Given the description of an element on the screen output the (x, y) to click on. 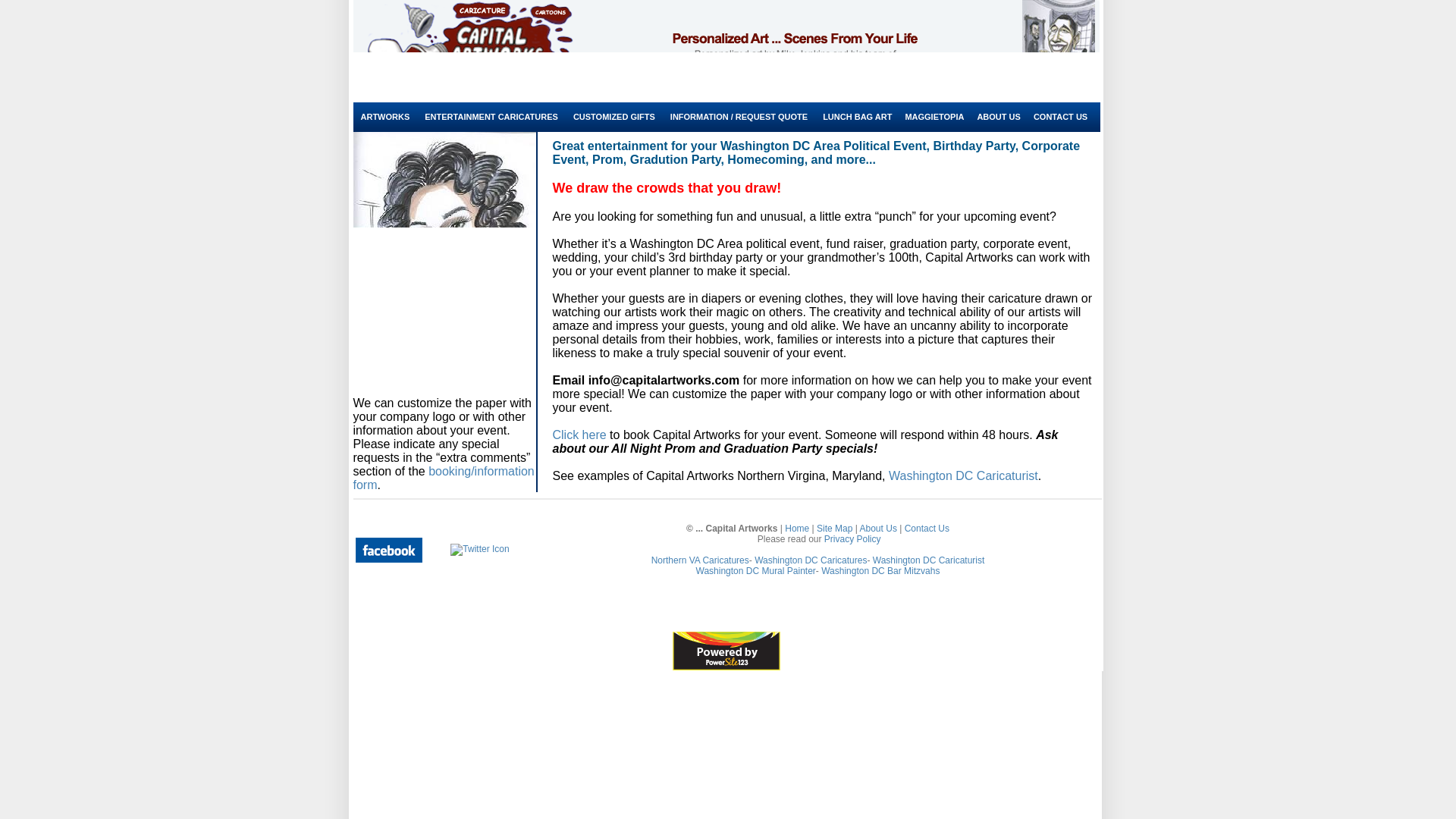
Powered by Powersite123 (725, 650)
Washington DC Caricatures (810, 560)
Home (796, 528)
Contact Us (926, 528)
Washington DC Caricaturist (963, 475)
Washington DC Caricaturist (928, 560)
About Us (878, 528)
Privacy Policy (852, 538)
Northern VA Caricatures (699, 560)
LUNCH BAG ART (856, 116)
